Given the description of an element on the screen output the (x, y) to click on. 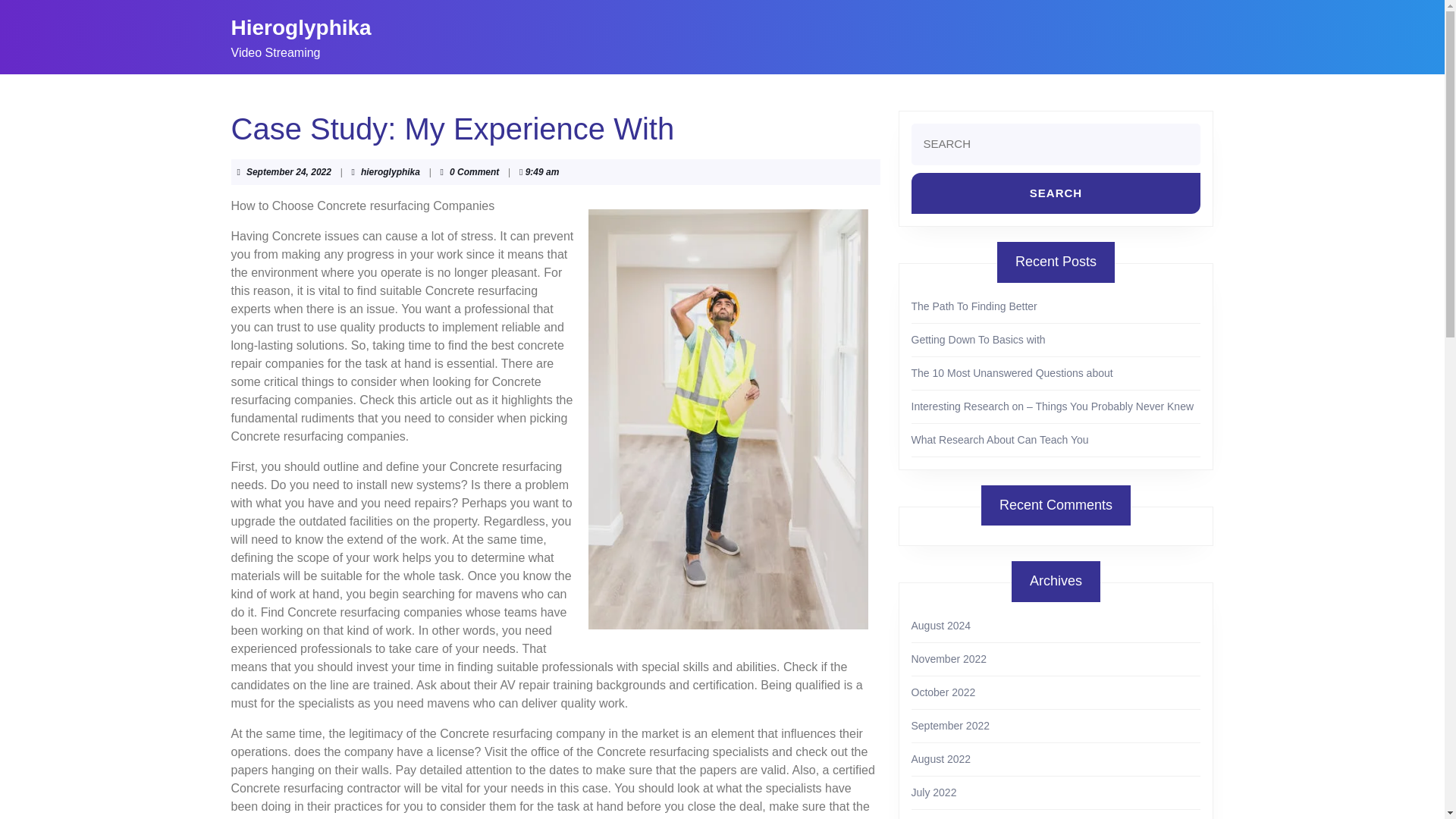
October 2022 (943, 692)
Getting Down To Basics with (978, 339)
SEARCH (1056, 193)
September 2022 (950, 725)
The Path To Finding Better (973, 306)
November 2022 (949, 658)
August 2022 (941, 758)
Hieroglyphika (300, 27)
SEARCH (1056, 193)
July 2022 (933, 792)
